Given the description of an element on the screen output the (x, y) to click on. 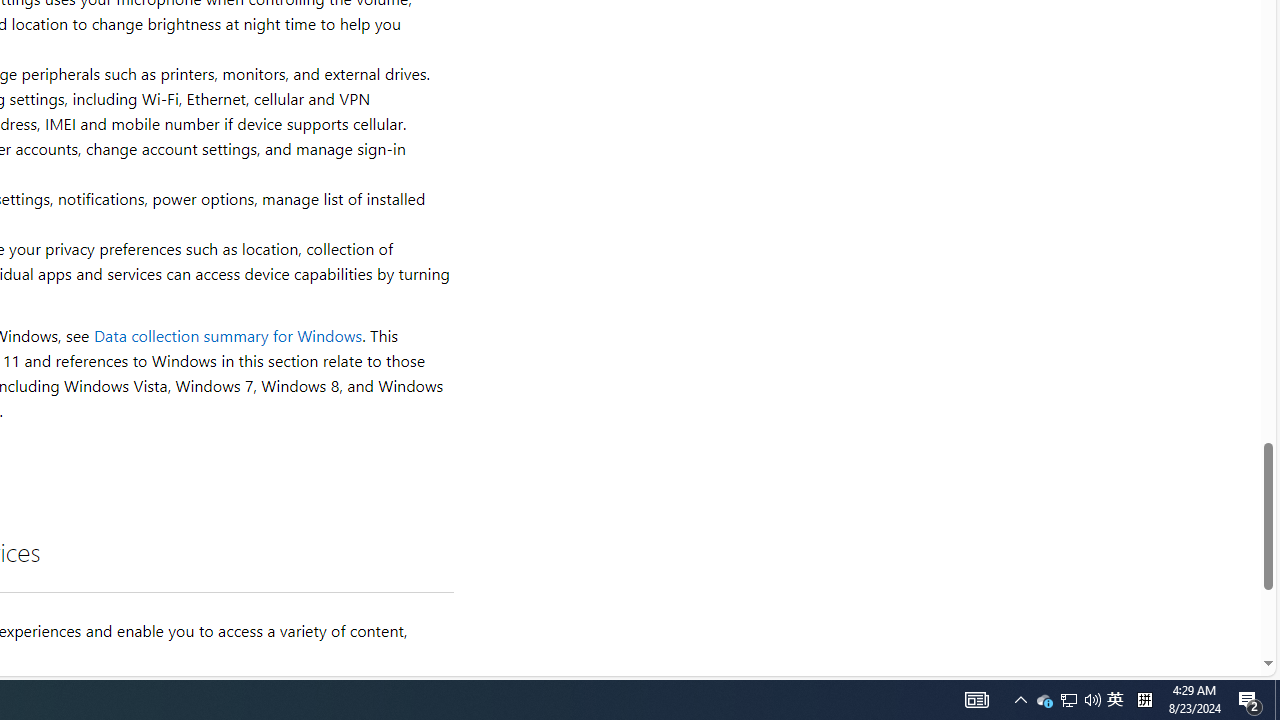
Data collection summary for Windows (228, 335)
